Given the description of an element on the screen output the (x, y) to click on. 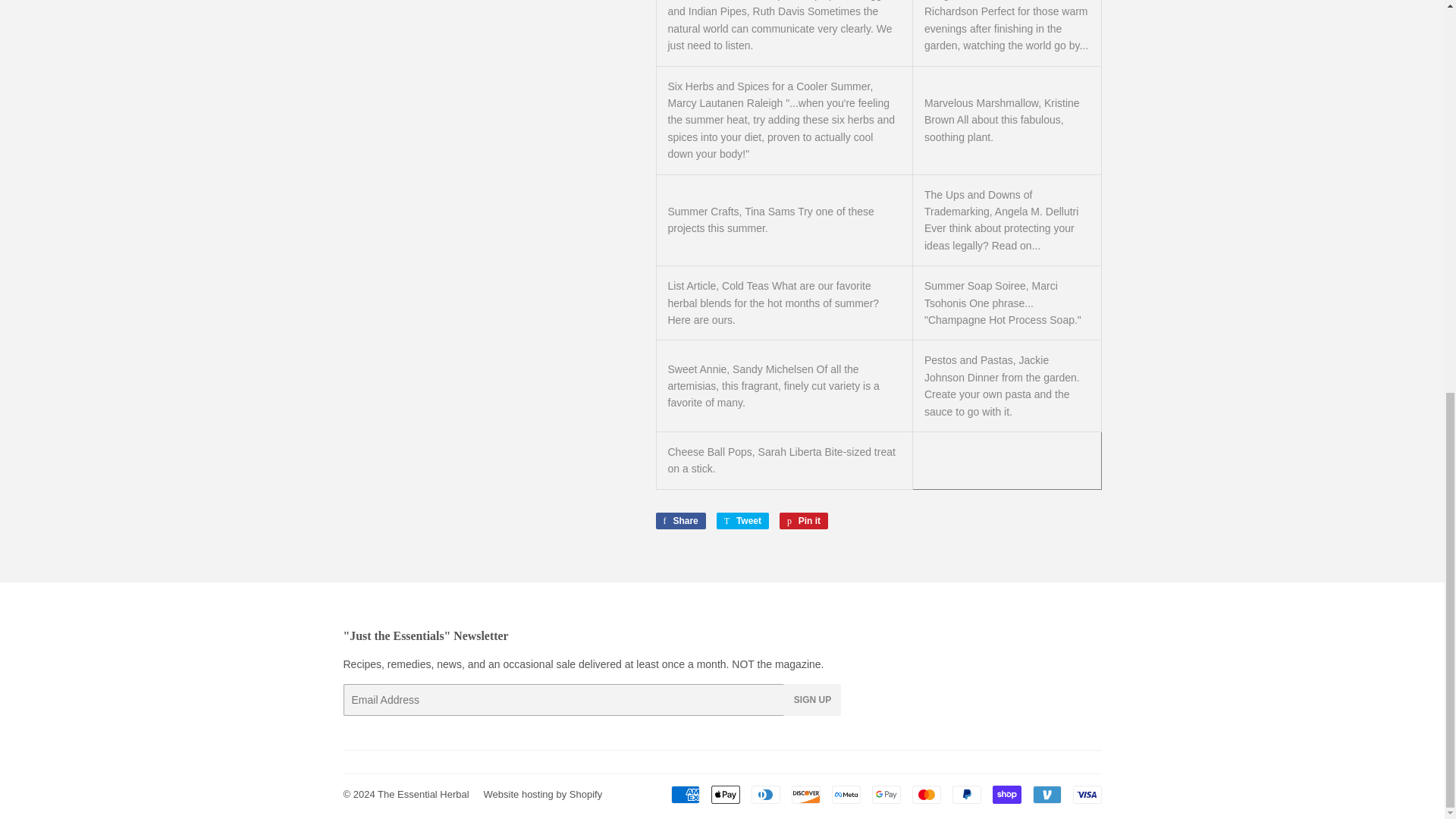
Visa (1085, 794)
Shop Pay (1005, 794)
Apple Pay (725, 794)
Mastercard (925, 794)
Pin on Pinterest (803, 520)
American Express (683, 794)
Meta Pay (845, 794)
Share on Facebook (679, 520)
Diners Club (764, 794)
Google Pay (886, 794)
